Given the description of an element on the screen output the (x, y) to click on. 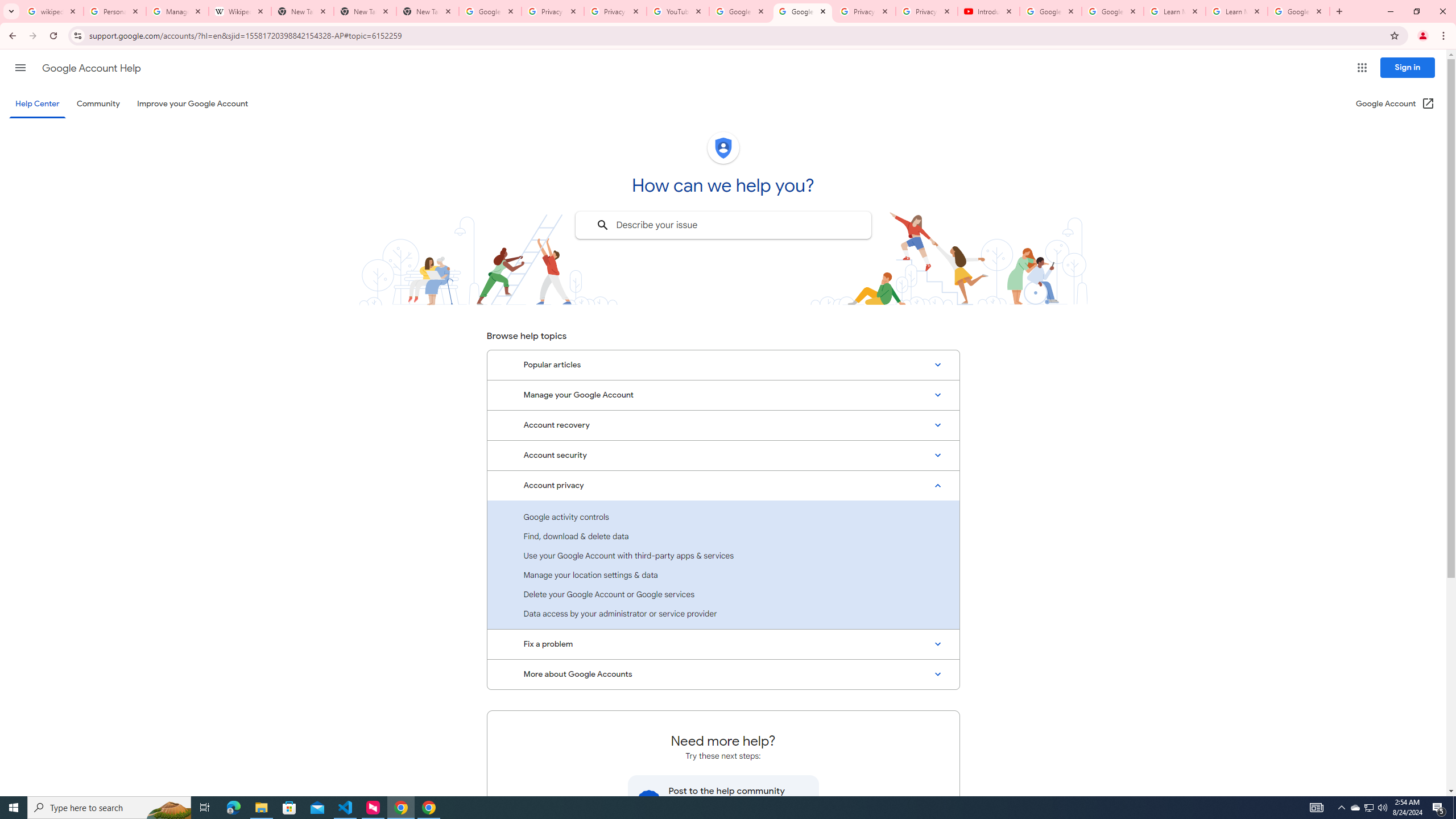
Google activity controls (722, 516)
Google Account (1298, 11)
Describe your issue to find information that might help you. (722, 225)
Google Account Help (740, 11)
Google Account Help (1050, 11)
Account security (722, 455)
Use your Google Account with third-party apps & services (722, 555)
Google Account (Open in a new window) (1395, 103)
Fix a problem (722, 644)
Main menu (20, 67)
